Given the description of an element on the screen output the (x, y) to click on. 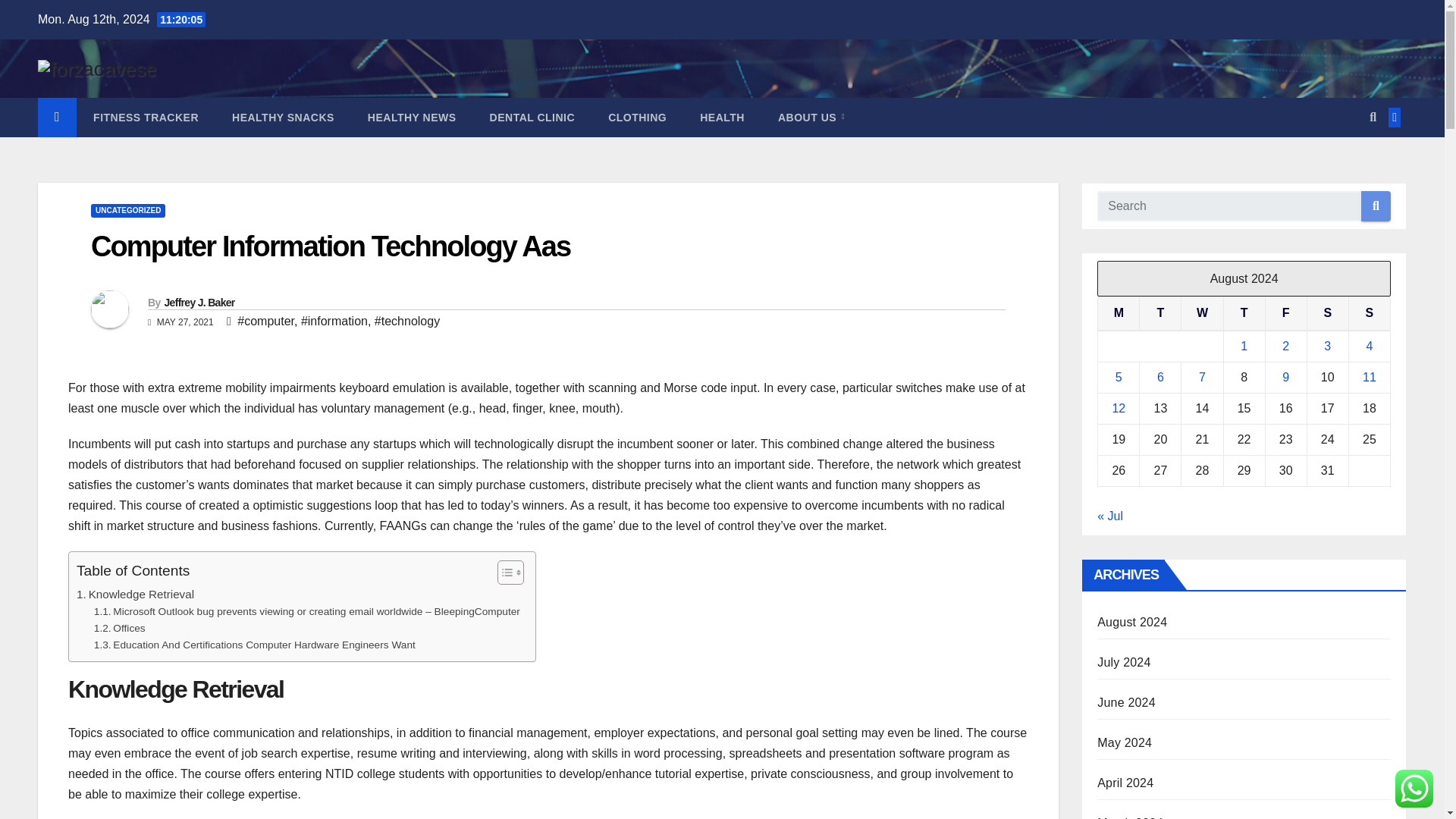
HEALTHY NEWS (411, 117)
Healthy News (411, 117)
Clothing (636, 117)
Healthy Snacks (282, 117)
CLOTHING (636, 117)
Knowledge Retrieval (135, 594)
DENTAL CLINIC (532, 117)
UNCATEGORIZED (127, 210)
Offices (119, 628)
Knowledge Retrieval (135, 594)
